Given the description of an element on the screen output the (x, y) to click on. 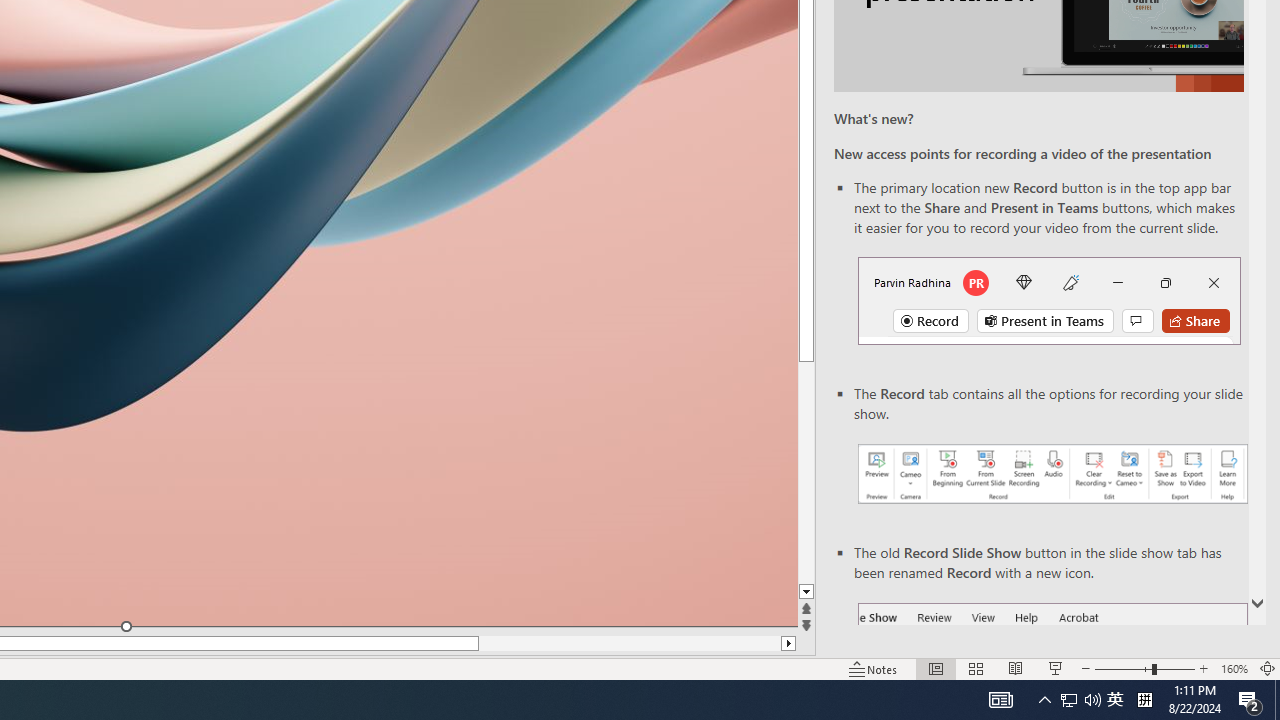
Record your presentations screenshot one (1052, 473)
